Given the description of an element on the screen output the (x, y) to click on. 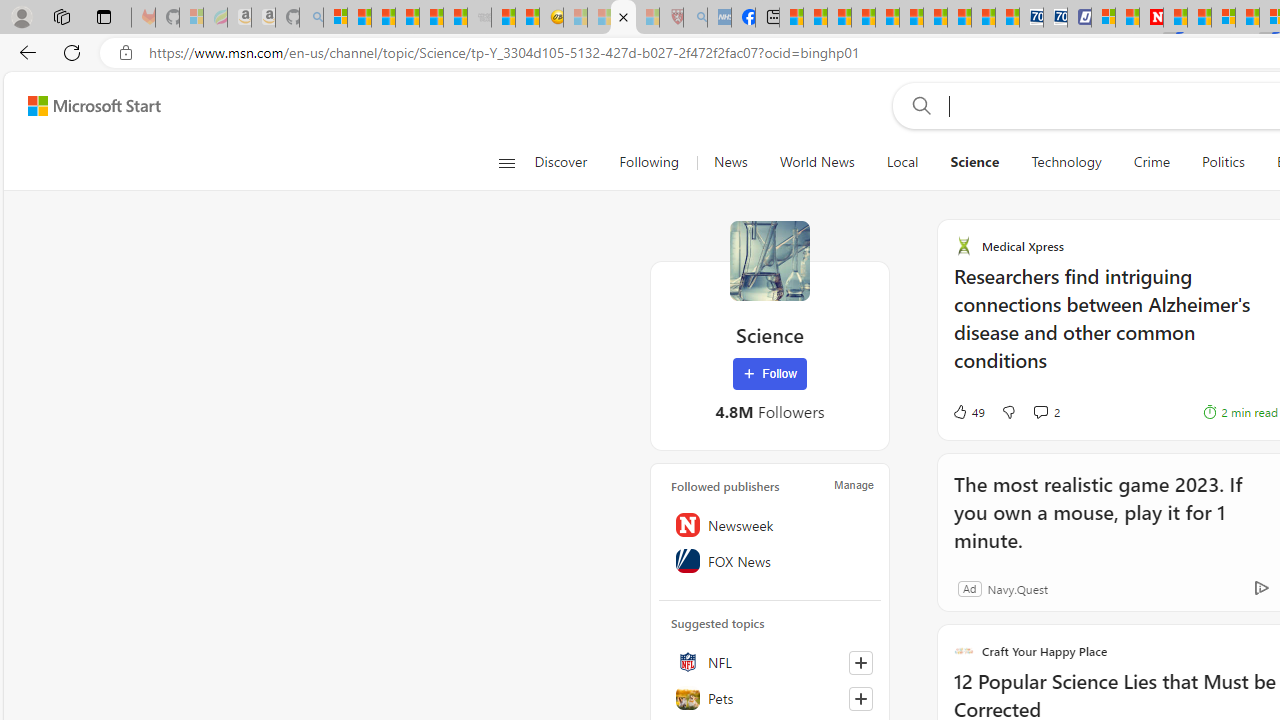
Climate Damage Becomes Too Severe To Reverse (863, 17)
